Given the description of an element on the screen output the (x, y) to click on. 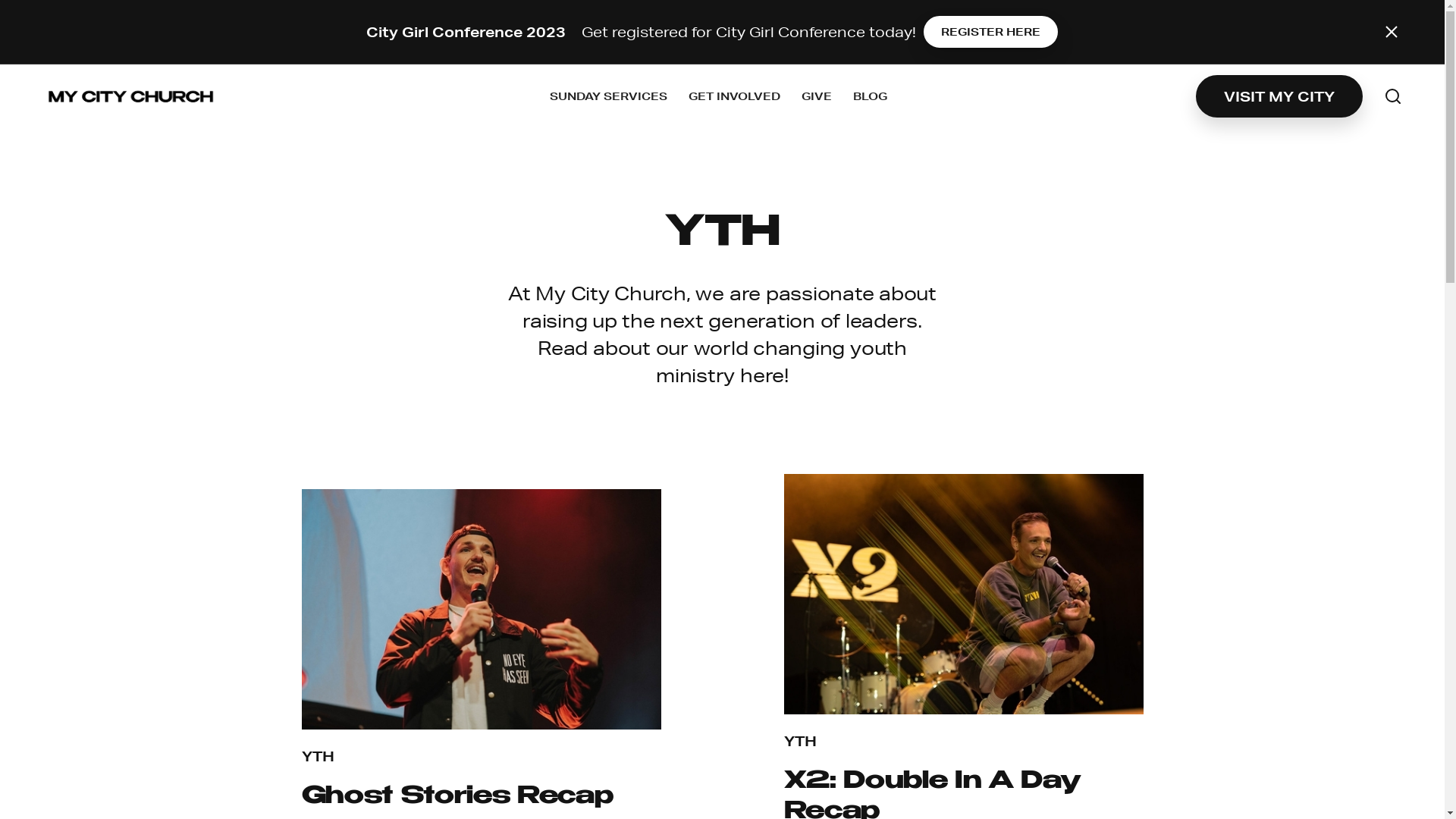
YTH Element type: text (800, 740)
GET INVOLVED Element type: text (734, 96)
YTH Element type: text (317, 755)
SUNDAY SERVICES Element type: text (607, 96)
VISIT MY CITY Element type: text (1278, 96)
BLOG Element type: text (869, 96)
GIVE Element type: text (815, 96)
REGISTER HERE Element type: text (990, 31)
